Given the description of an element on the screen output the (x, y) to click on. 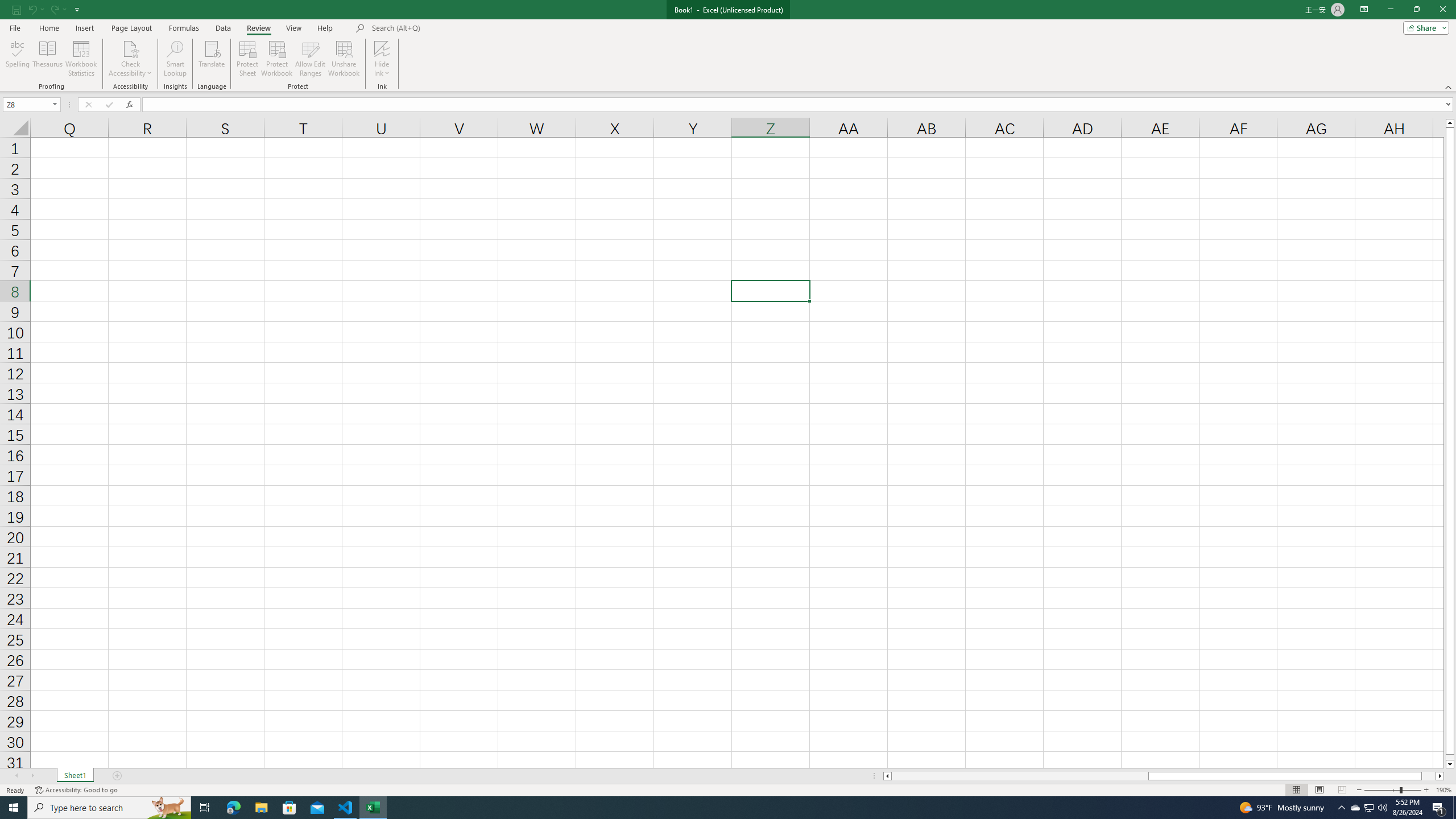
Spelling... (17, 58)
Protect Sheet... (247, 58)
